Given the description of an element on the screen output the (x, y) to click on. 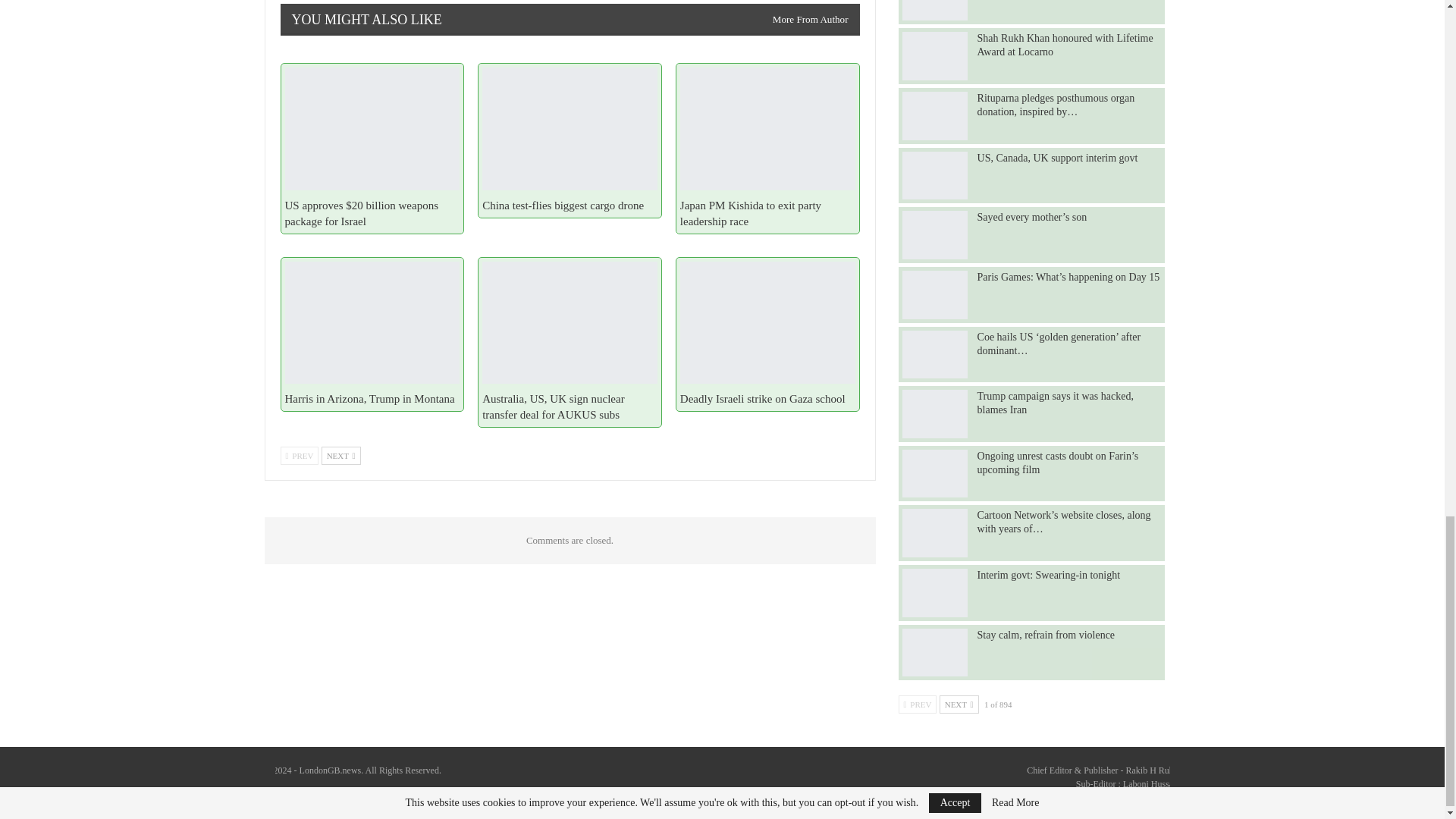
Japan PM Kishida to exit party leadership race (767, 128)
Harris in Arizona, Trump in Montana (372, 322)
Japan PM Kishida to exit party leadership race (750, 213)
China test-flies biggest cargo drone (562, 205)
China test-flies biggest cargo drone (569, 128)
